Given the description of an element on the screen output the (x, y) to click on. 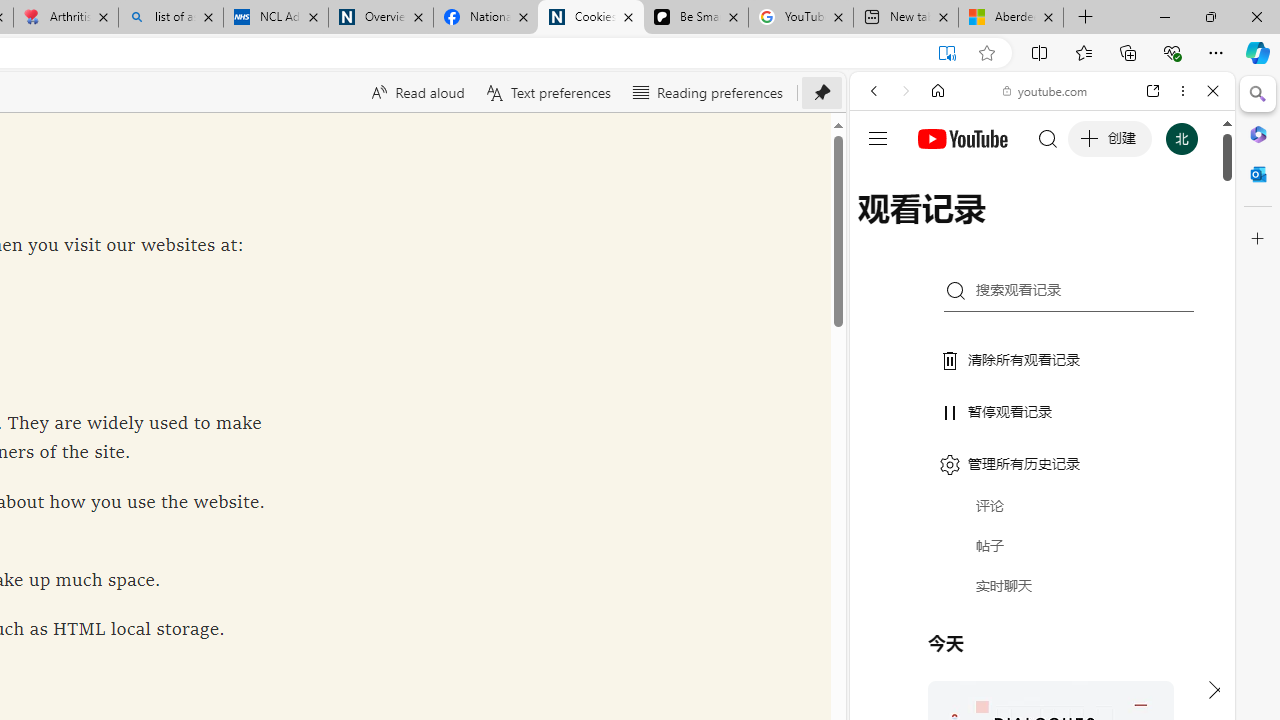
Search videos from youtube.com (1005, 657)
Exit Immersive Reader (F9) (946, 53)
youtube.com (1046, 90)
